Given the description of an element on the screen output the (x, y) to click on. 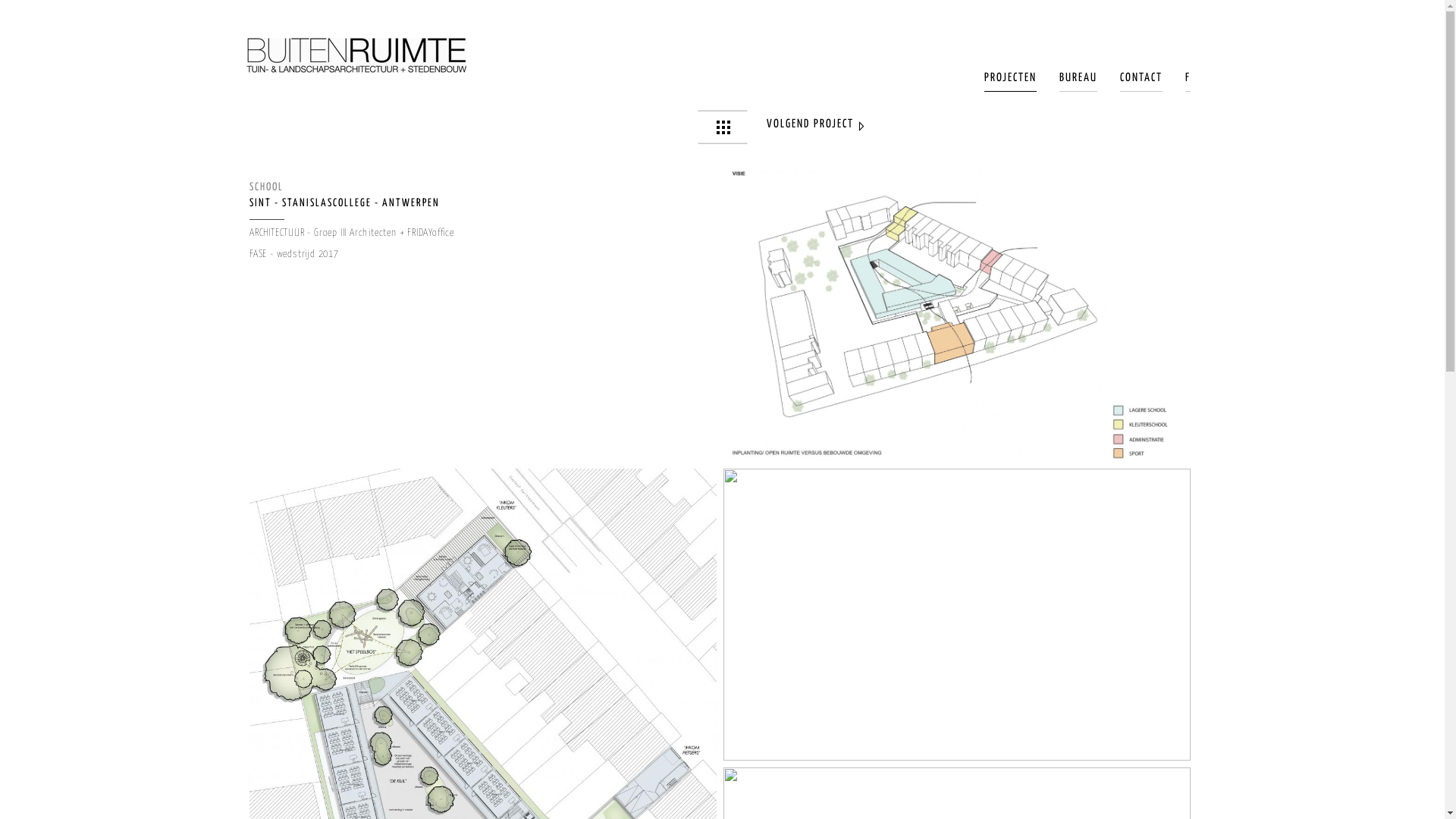
VOLGEND PROJECT Element type: text (814, 126)
Terug naar overzicht Element type: hover (722, 126)
F Element type: text (1187, 81)
PROJECTEN Element type: text (1010, 81)
Home Element type: hover (356, 54)
BUREAU Element type: text (1078, 81)
CONTACT Element type: text (1141, 81)
